Given the description of an element on the screen output the (x, y) to click on. 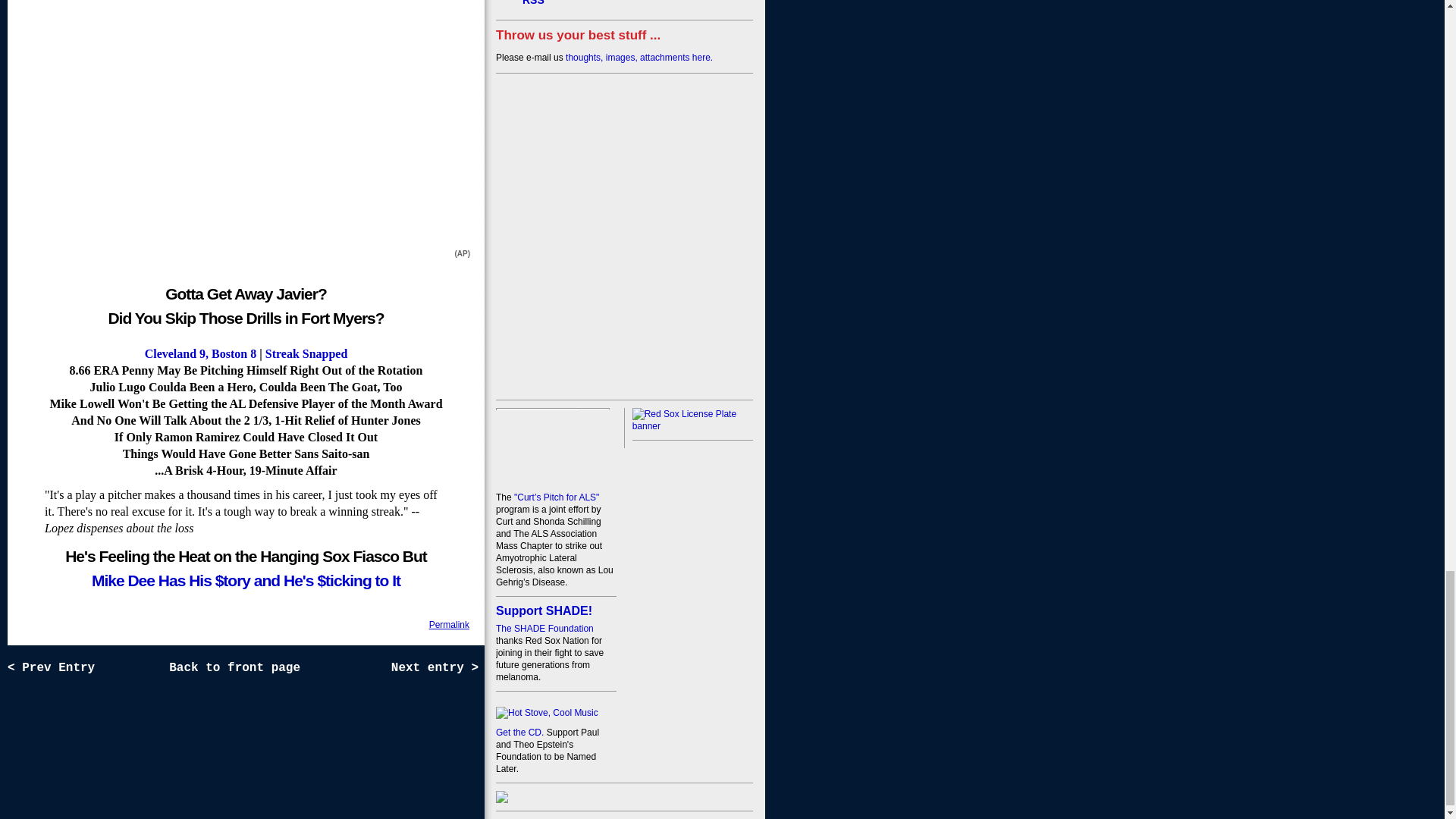
Streak Snapped (305, 353)
Cleveland 9, Boston 8 (200, 353)
Back to front page (236, 667)
Permalink (448, 624)
